Given the description of an element on the screen output the (x, y) to click on. 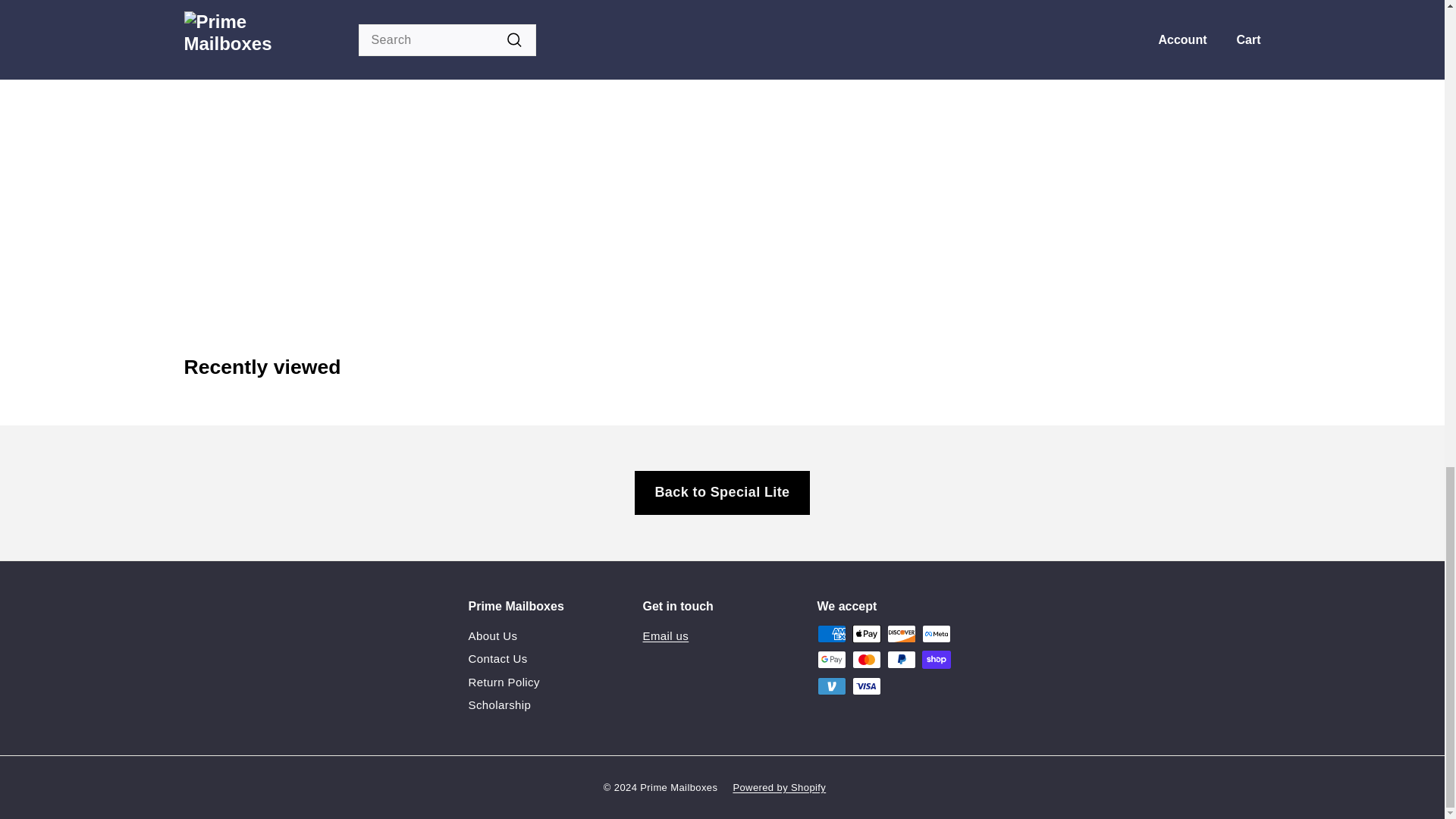
Back to Special Lite (721, 492)
Discover (900, 633)
Venmo (830, 686)
Google Pay (830, 659)
Contact Us (497, 658)
American Express (830, 633)
Meta Pay (935, 633)
Shop Pay (935, 659)
Apple Pay (865, 633)
Visa (865, 686)
